Given the description of an element on the screen output the (x, y) to click on. 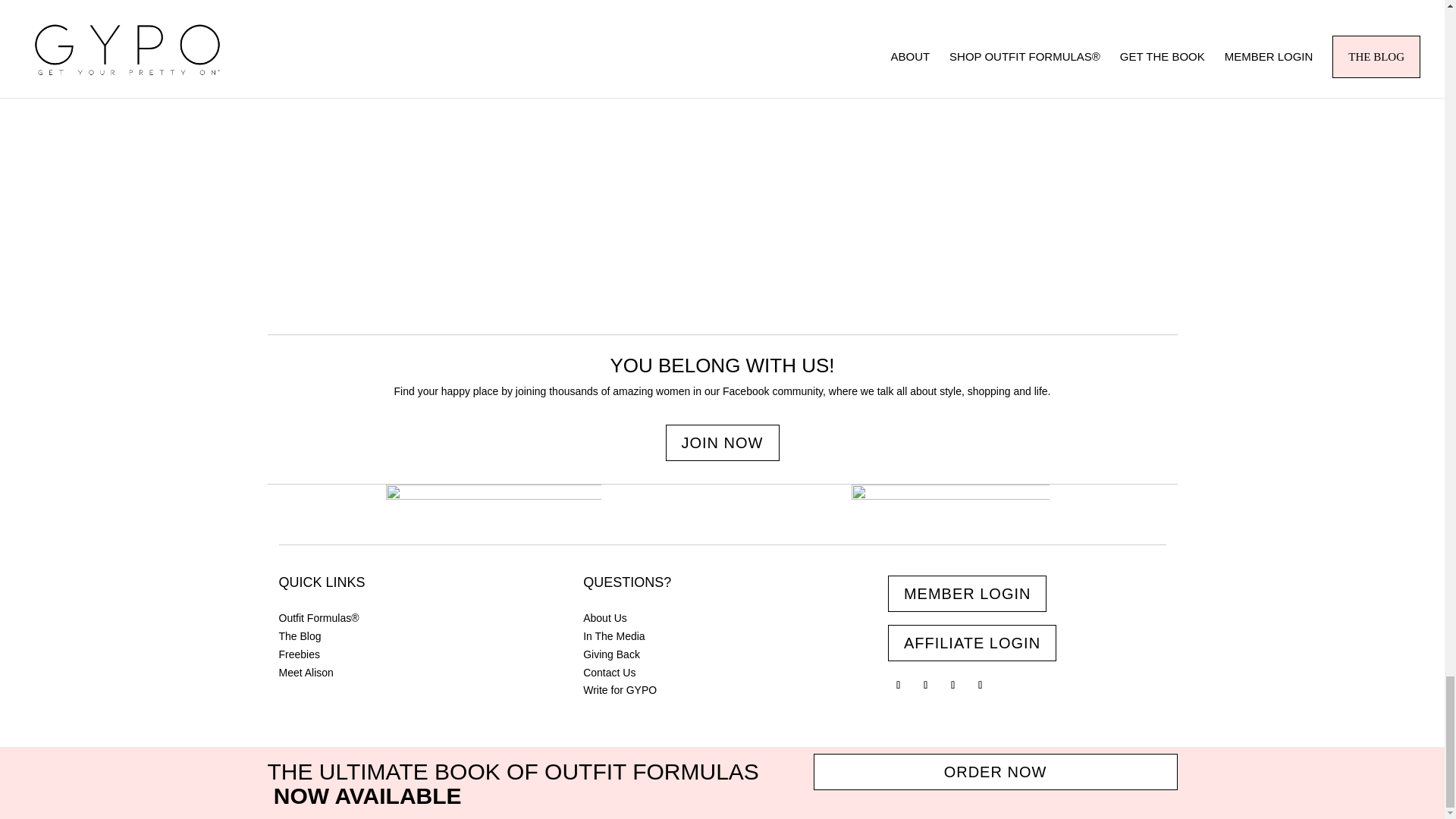
JOIN NOW (721, 443)
Follow on Youtube (980, 685)
Follow on Facebook (898, 685)
Follow on Instagram (925, 685)
Follow on Pinterest (952, 685)
